Given the description of an element on the screen output the (x, y) to click on. 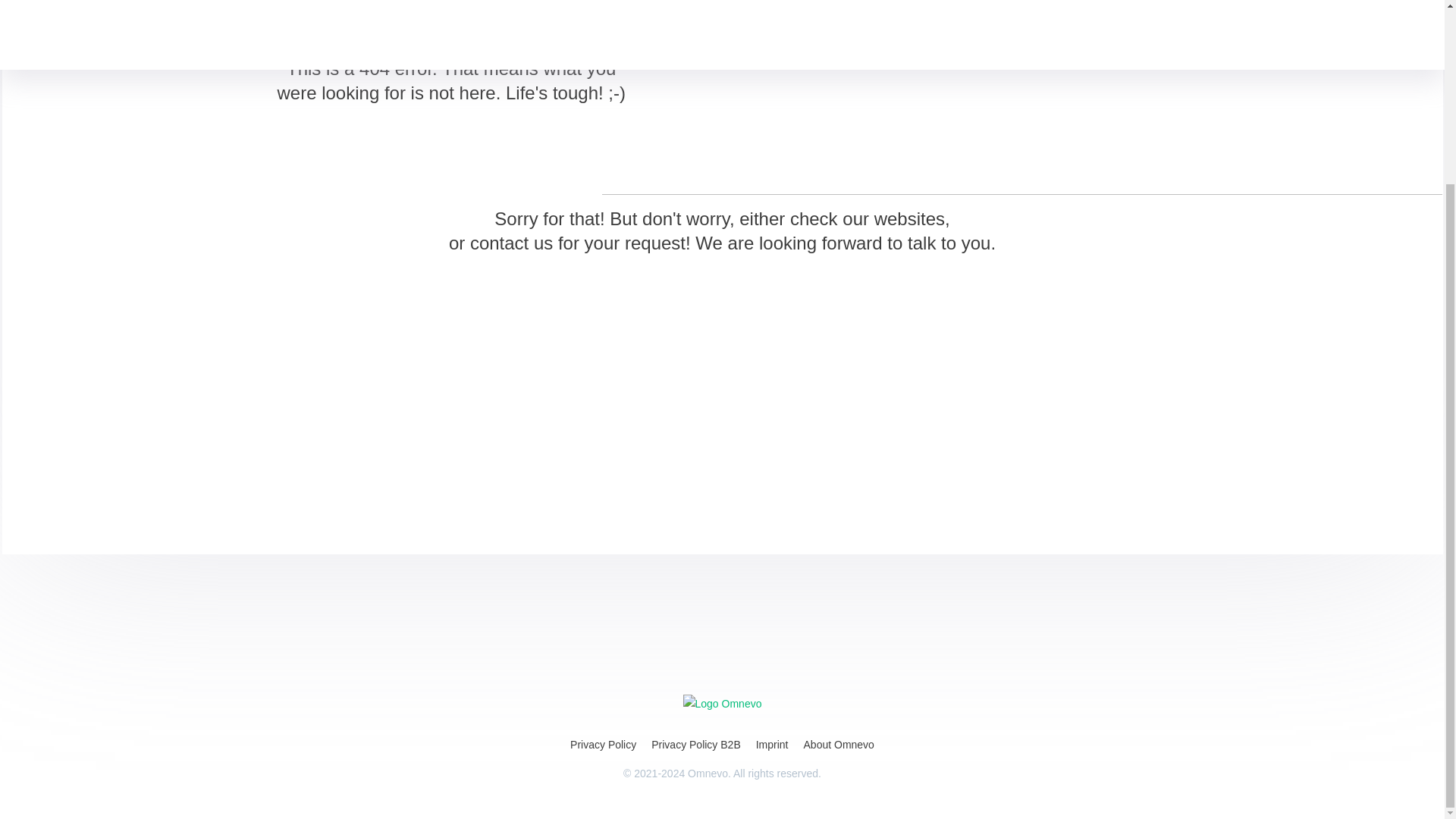
Omnevo (721, 703)
